Given the description of an element on the screen output the (x, y) to click on. 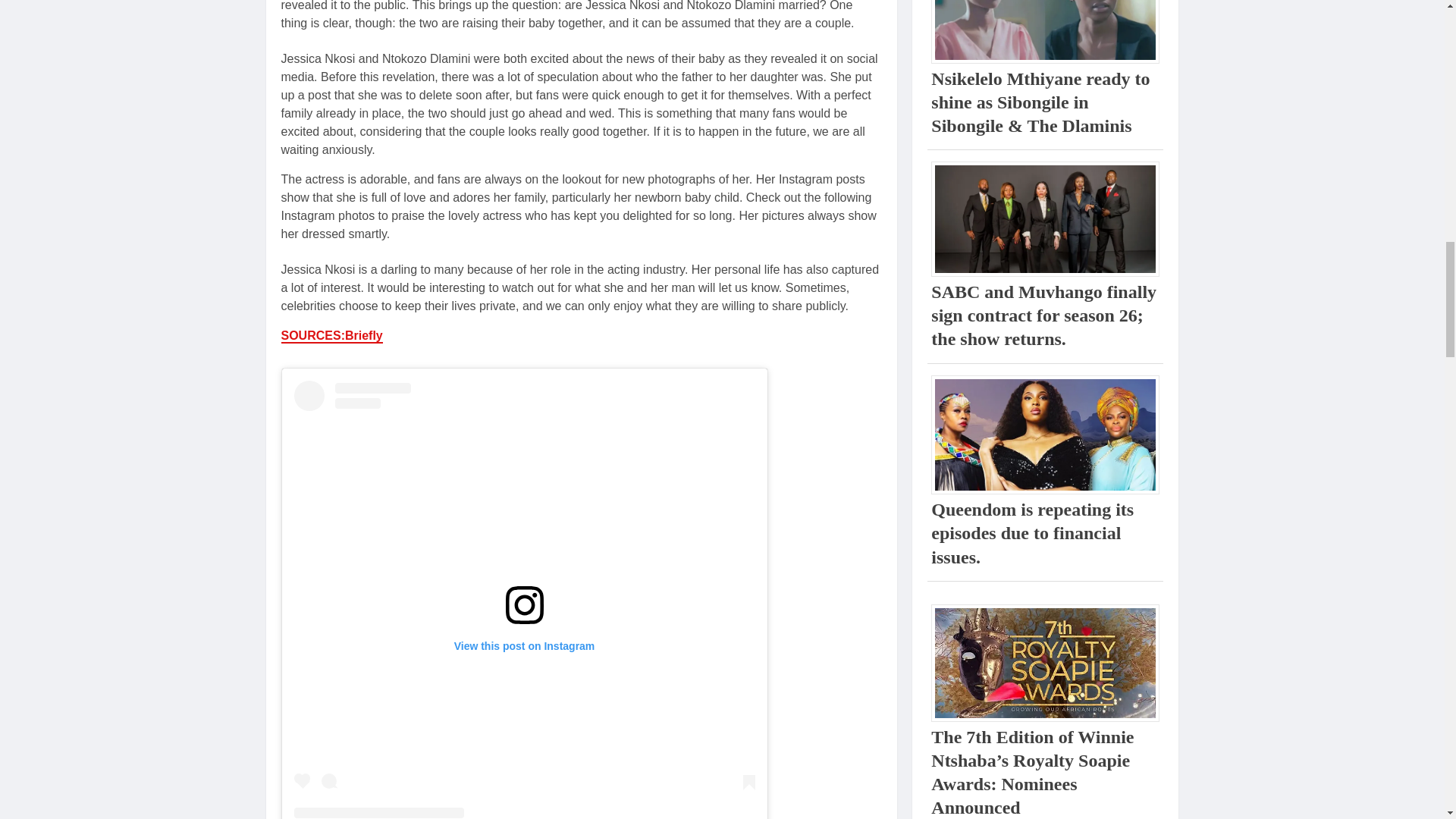
SOURCES:Briefly (331, 336)
